Given the description of an element on the screen output the (x, y) to click on. 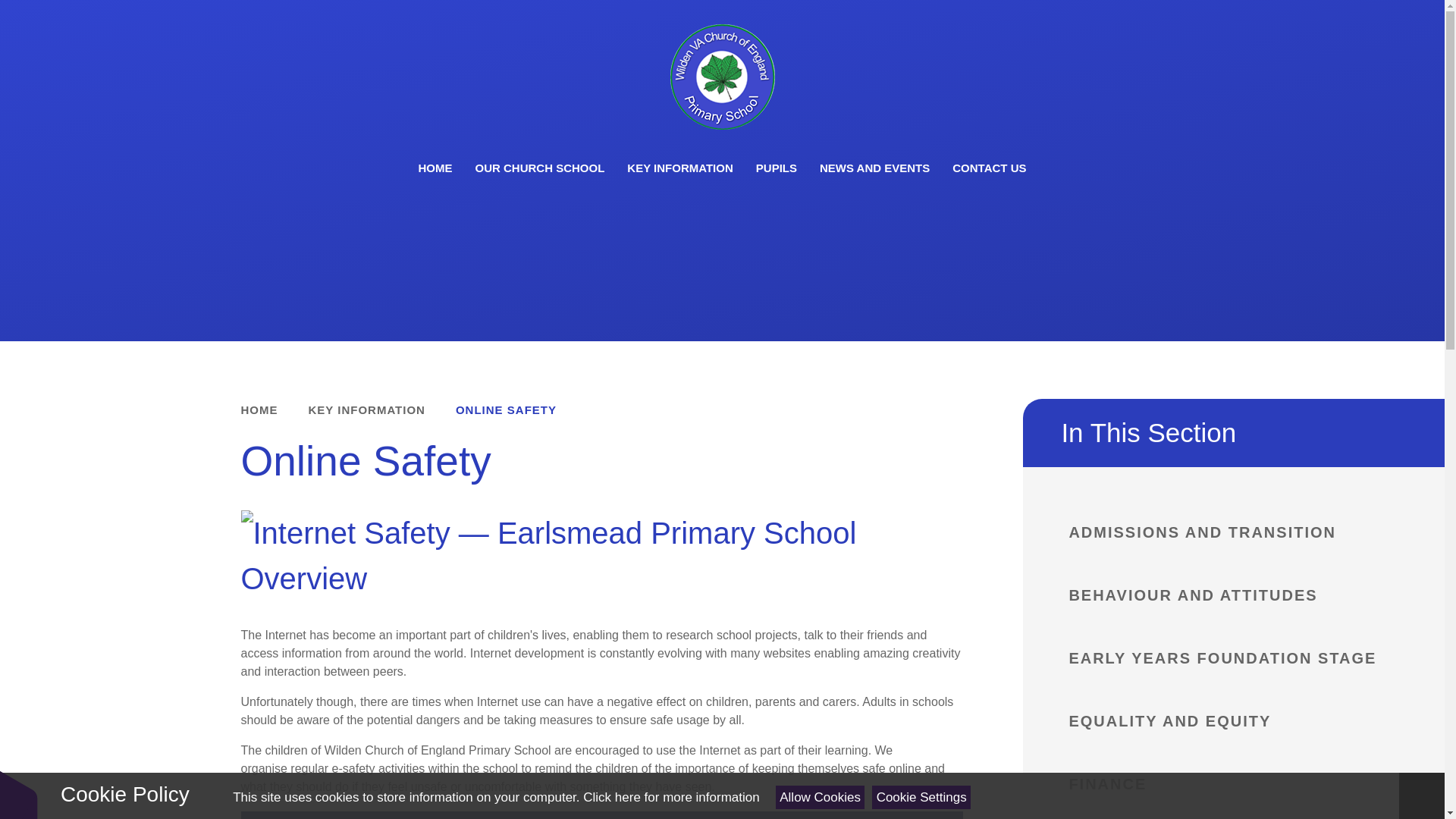
HOME (434, 167)
KEY INFORMATION (679, 167)
OUR CHURCH SCHOOL (539, 167)
